Given the description of an element on the screen output the (x, y) to click on. 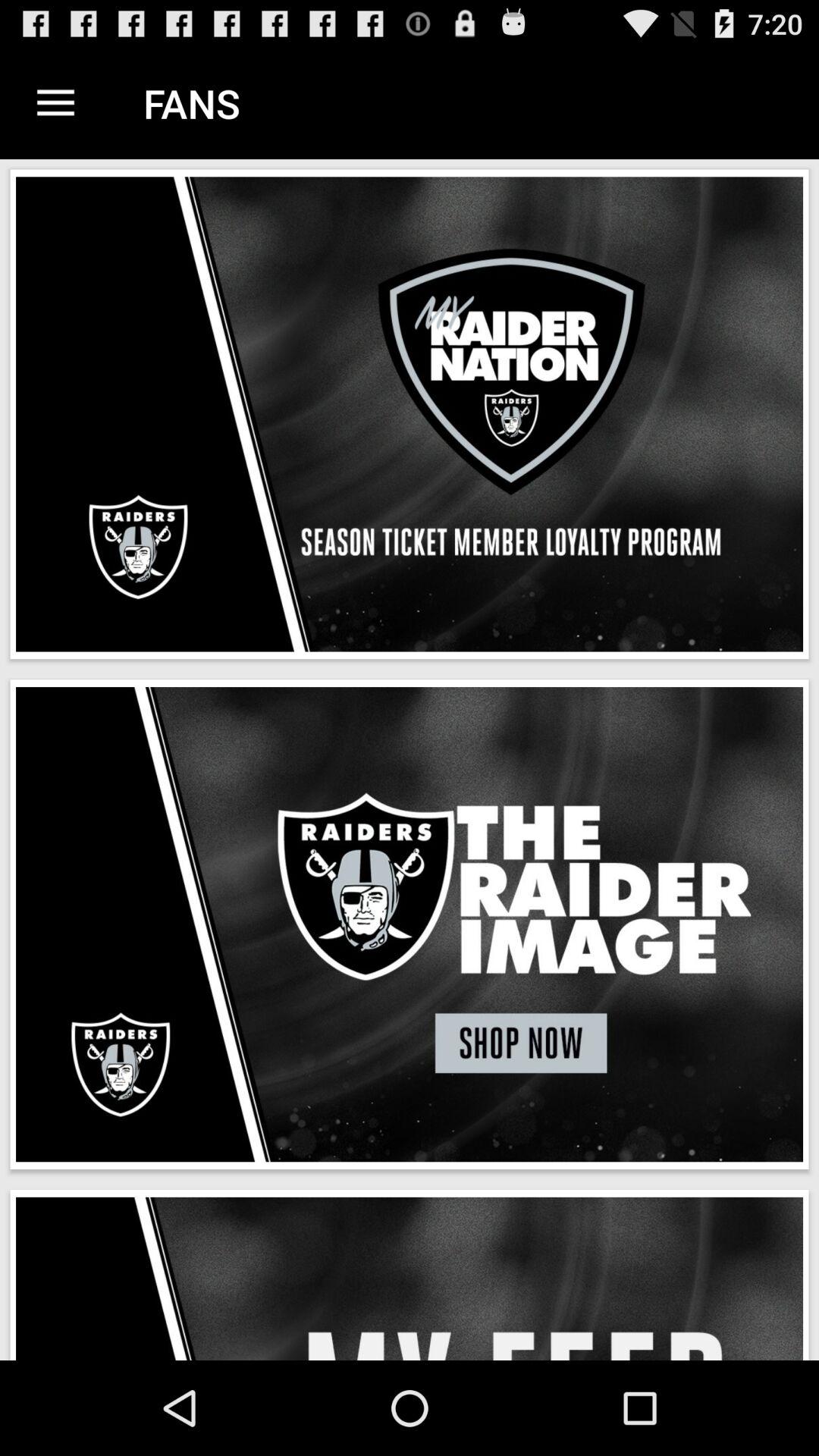
open item next to fans app (55, 103)
